Given the description of an element on the screen output the (x, y) to click on. 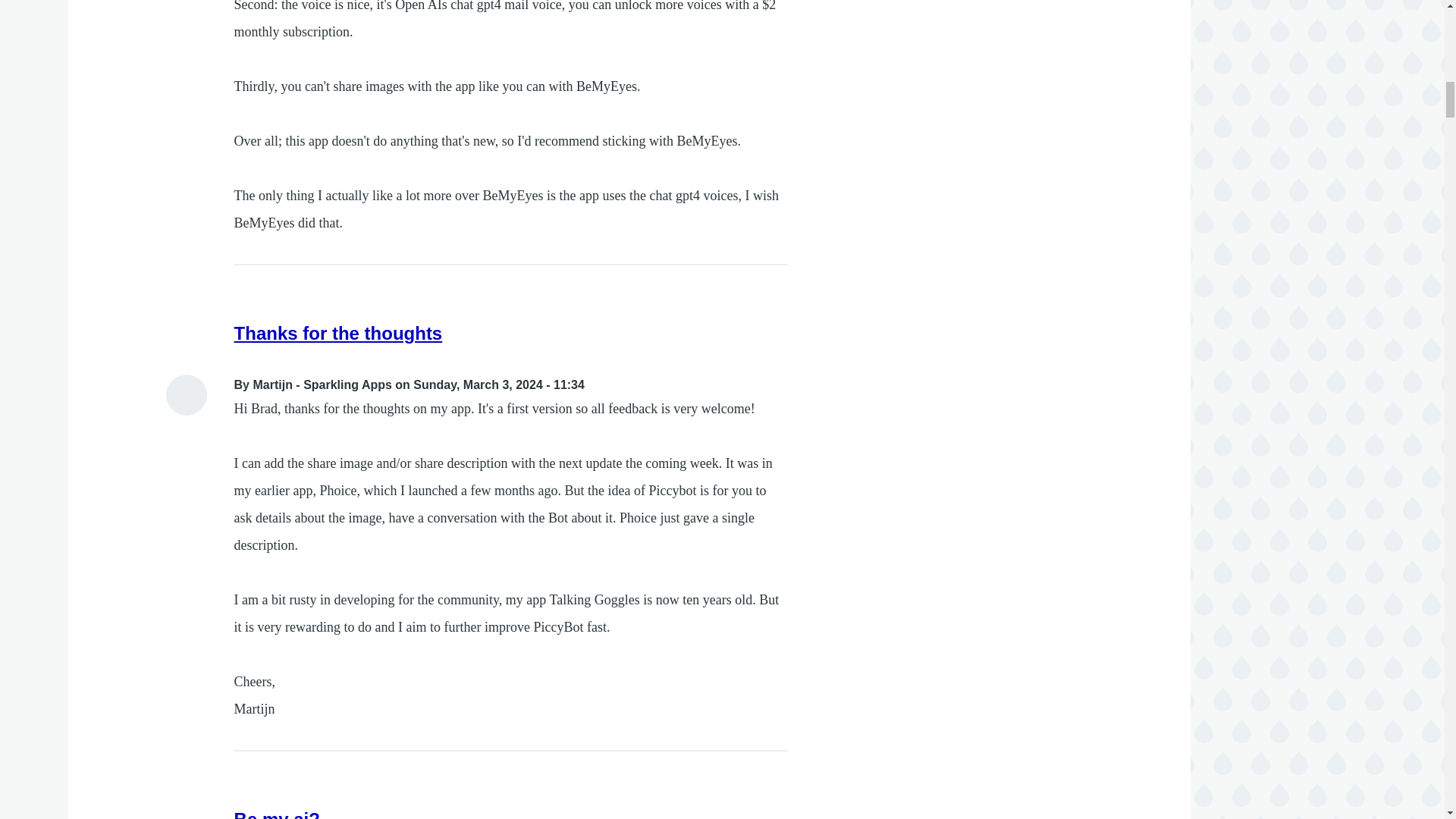
Thanks for the thoughts (338, 332)
Be my ai? (277, 814)
